Given the description of an element on the screen output the (x, y) to click on. 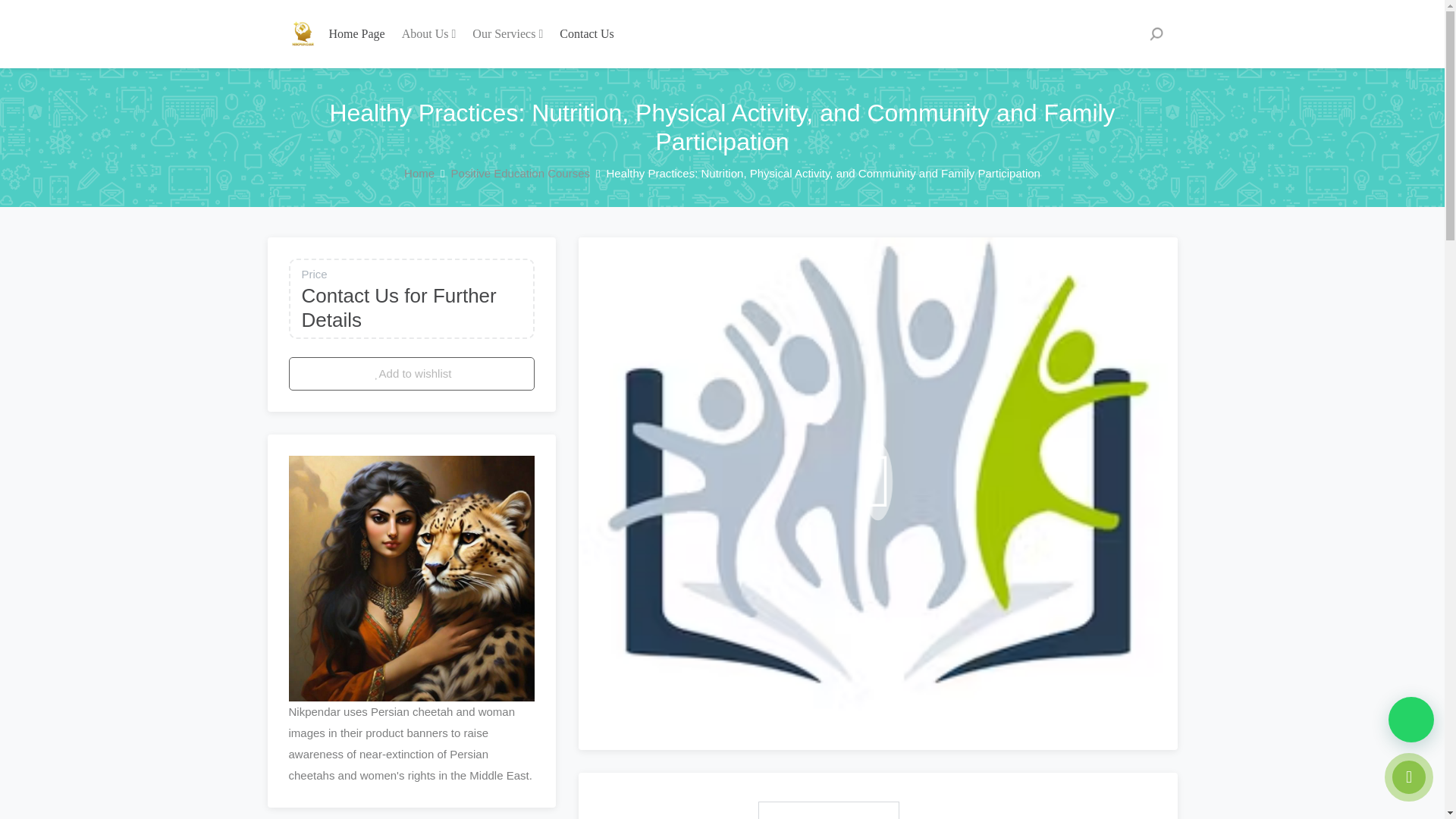
Home Page (357, 33)
Home (418, 173)
Positive Education Courses (520, 173)
Contact Us (586, 33)
Our Serviecs (507, 33)
About Us (429, 33)
